Given the description of an element on the screen output the (x, y) to click on. 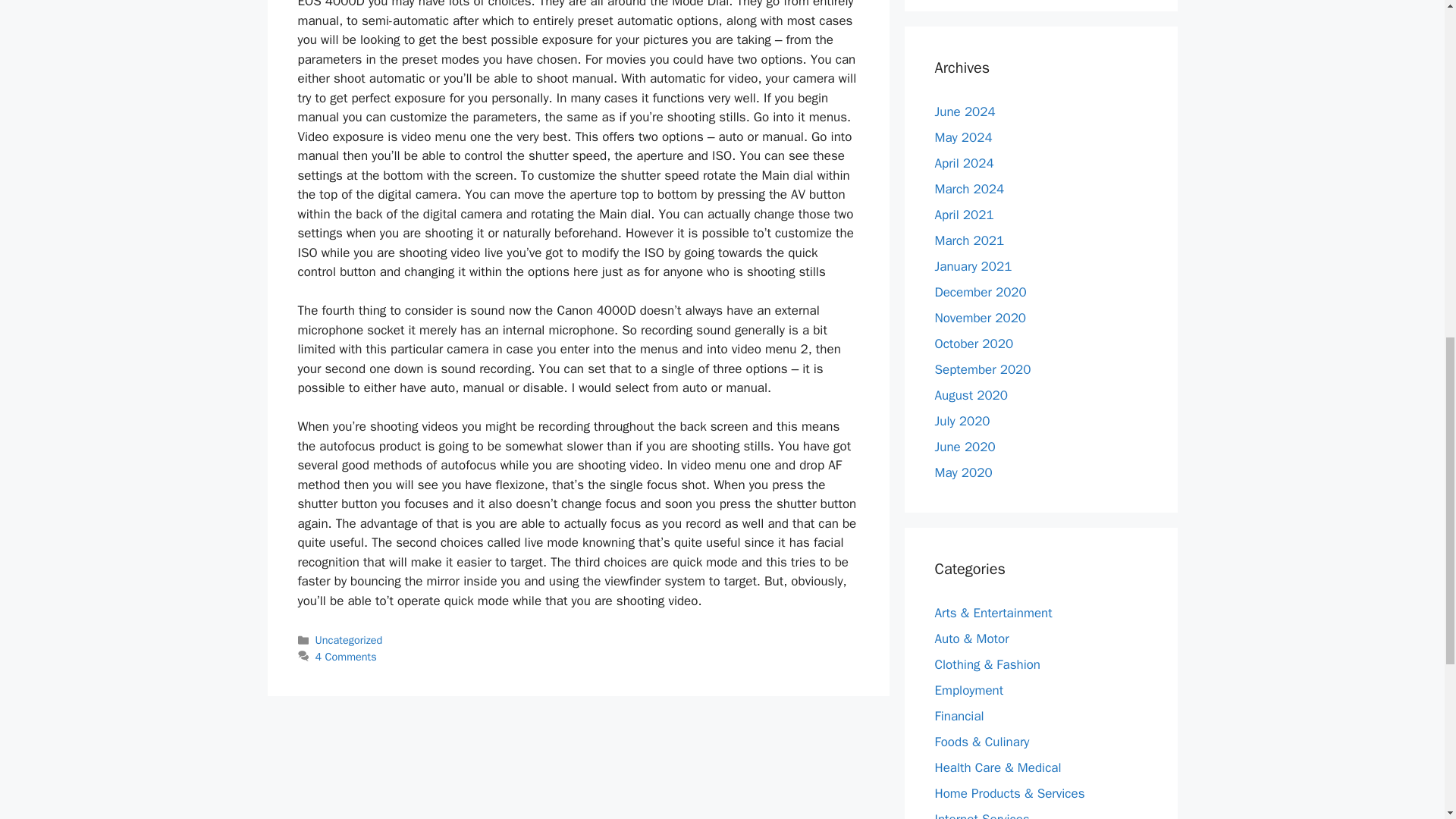
4 Comments (346, 656)
November 2020 (980, 317)
April 2024 (963, 162)
January 2021 (972, 265)
March 2021 (969, 239)
December 2020 (980, 291)
April 2021 (963, 213)
October 2020 (973, 342)
March 2024 (969, 188)
August 2020 (970, 394)
